Given the description of an element on the screen output the (x, y) to click on. 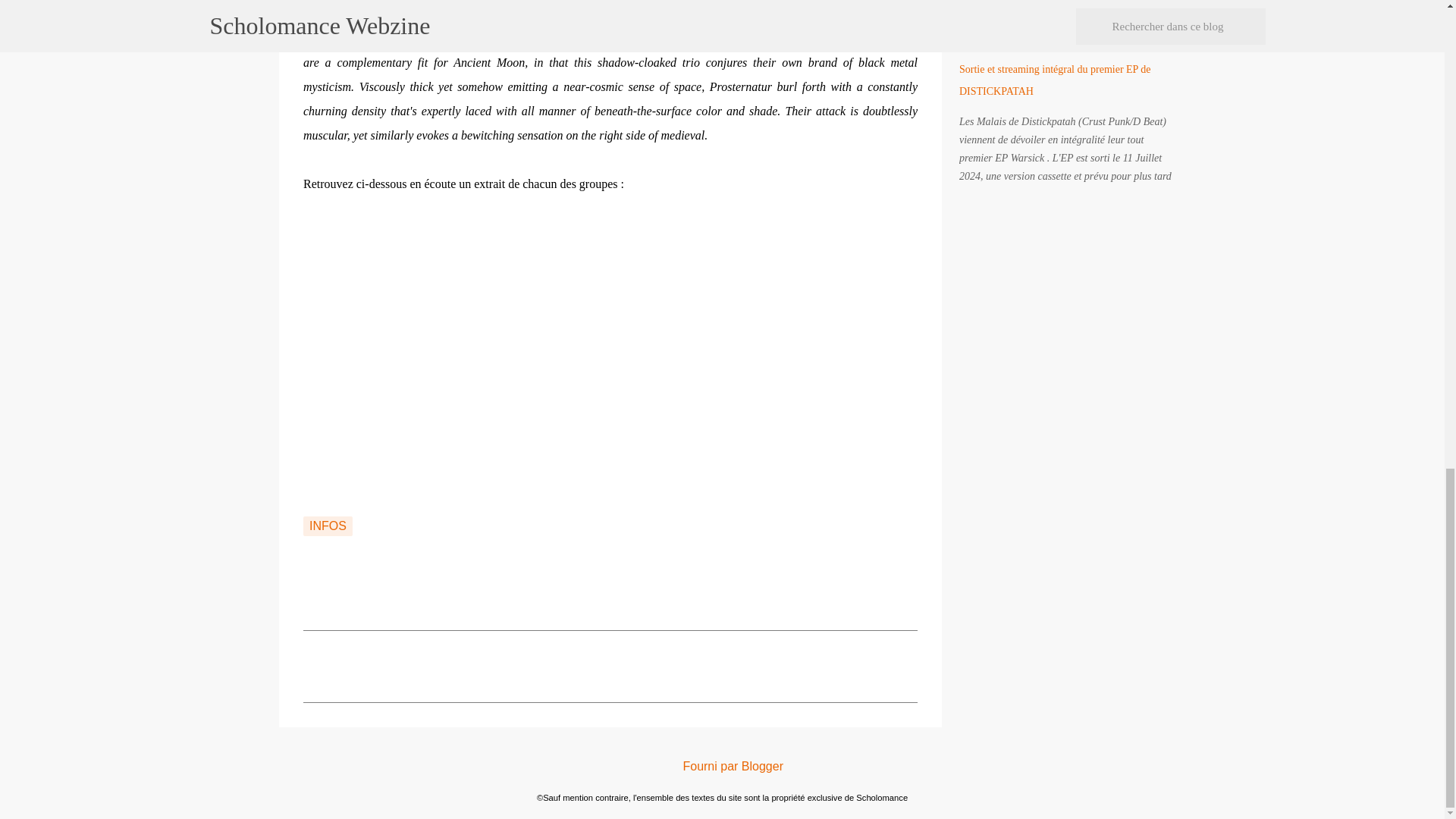
INFOS (327, 526)
Fourni par Blogger (722, 766)
